Given the description of an element on the screen output the (x, y) to click on. 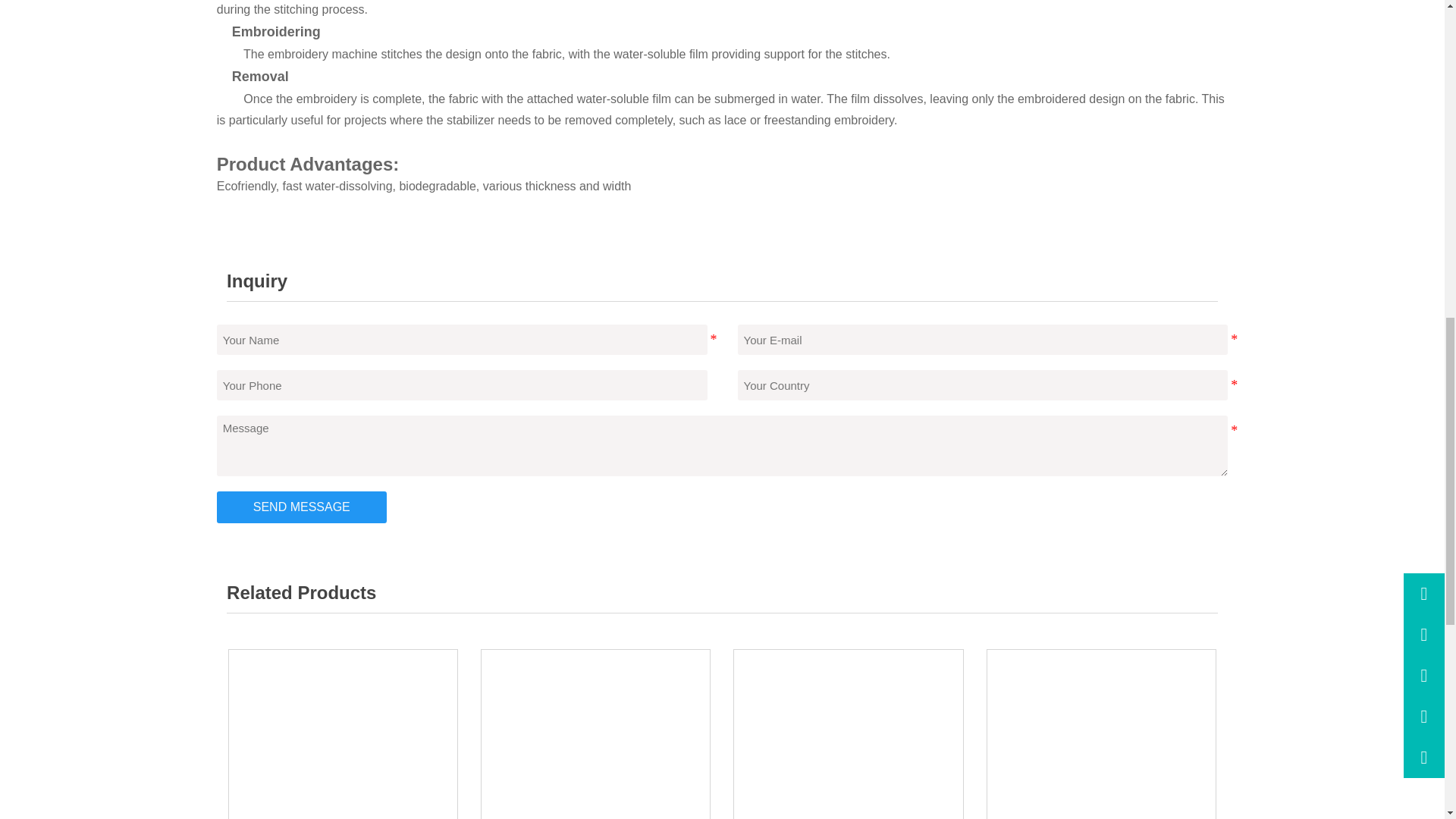
Water Soluble Laundry Pod Film (1101, 734)
Water Soluble Laundry Pod Film (1101, 734)
Water Soluble Film Packing Film (595, 734)
Water Soluble Film Packing Film (595, 734)
Water Soluble Toilet Bowl Cleaner Film (342, 734)
Laundry Pod (847, 734)
Water Soluble Toilet Bowl Cleaner Film (343, 734)
Laundry Pod (847, 734)
